Given the description of an element on the screen output the (x, y) to click on. 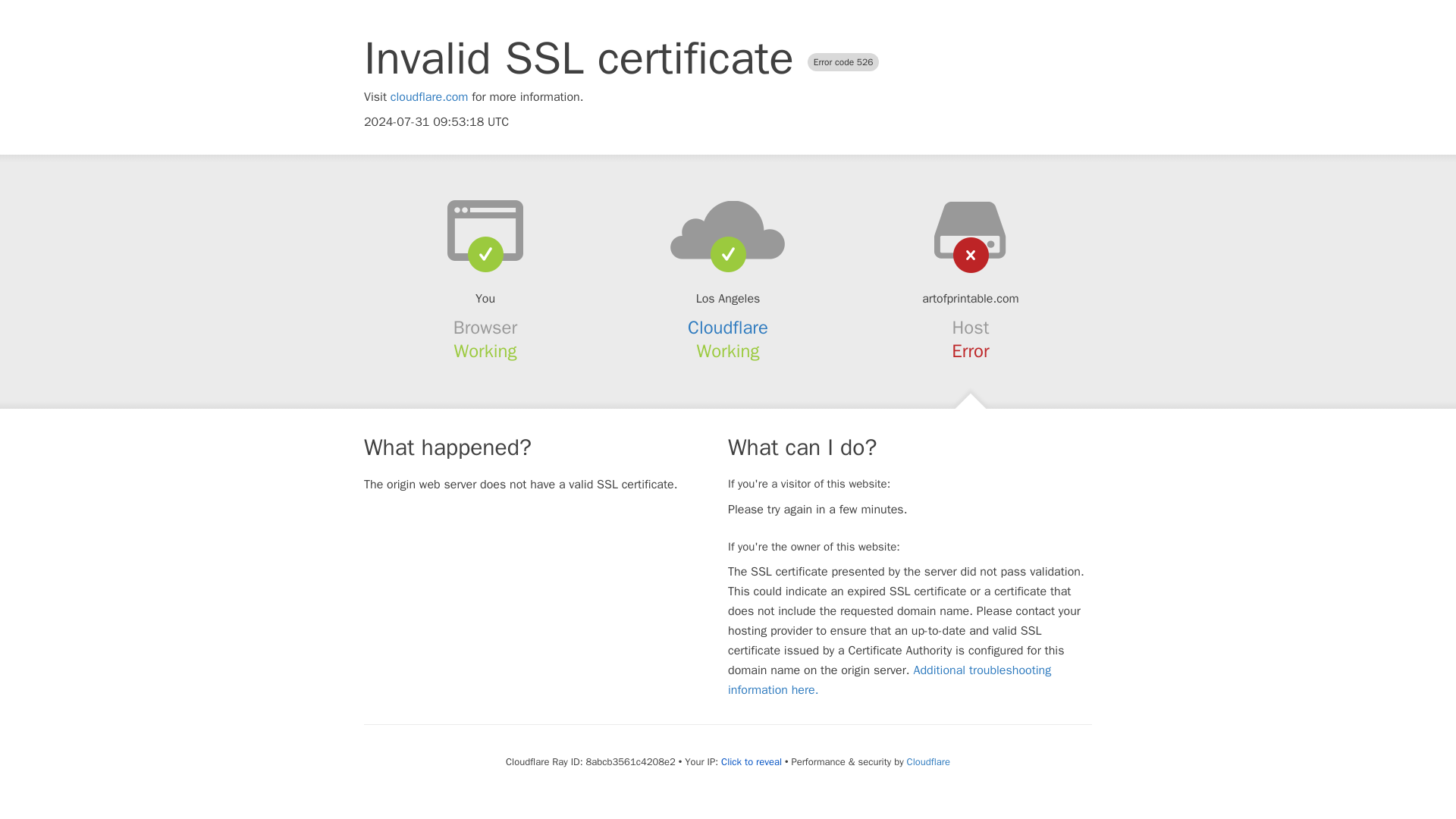
cloudflare.com (429, 96)
Cloudflare (727, 327)
Click to reveal (750, 762)
Additional troubleshooting information here. (889, 679)
Cloudflare (927, 761)
